Given the description of an element on the screen output the (x, y) to click on. 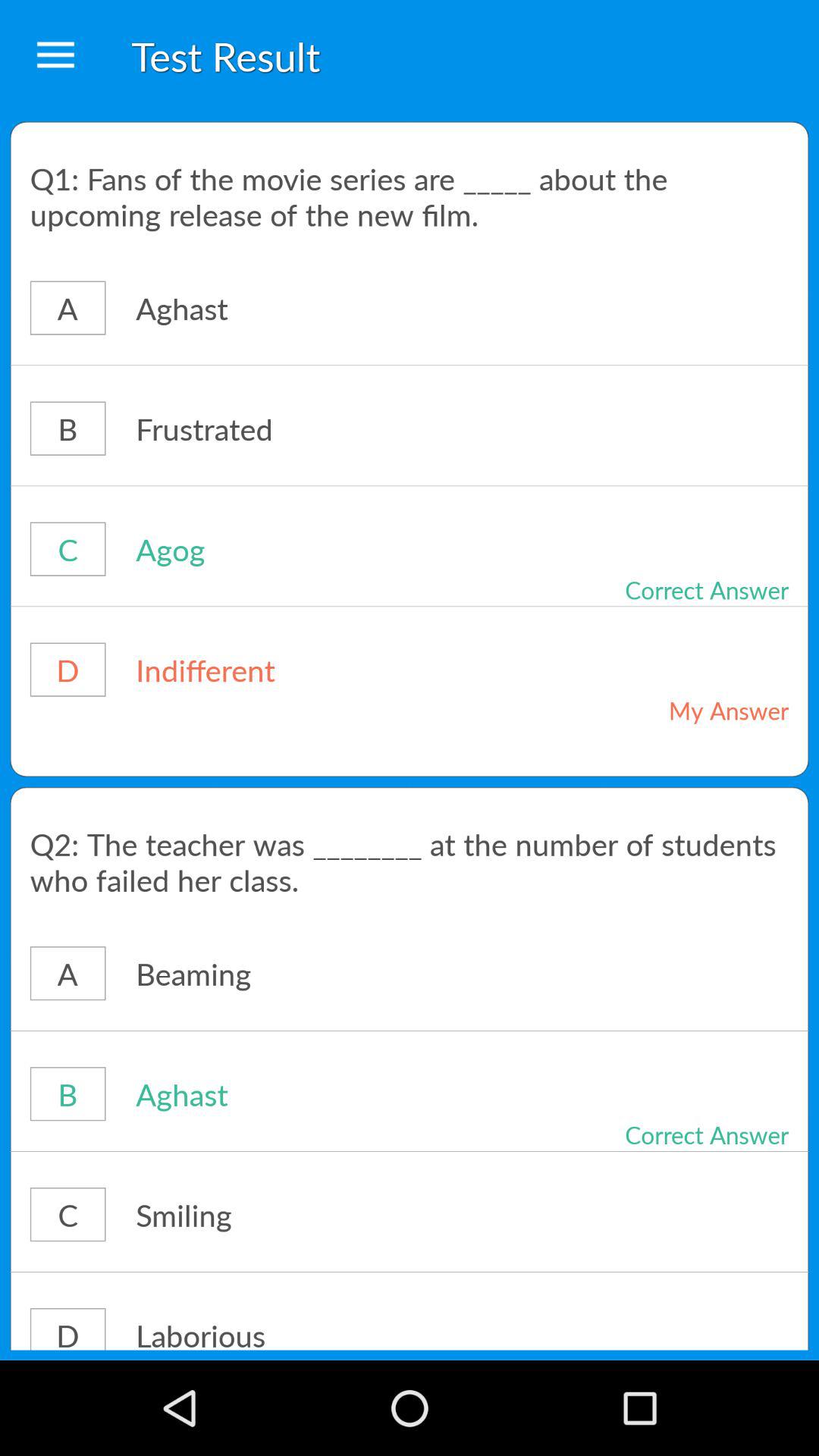
choose the item to the left of test result icon (55, 55)
